Given the description of an element on the screen output the (x, y) to click on. 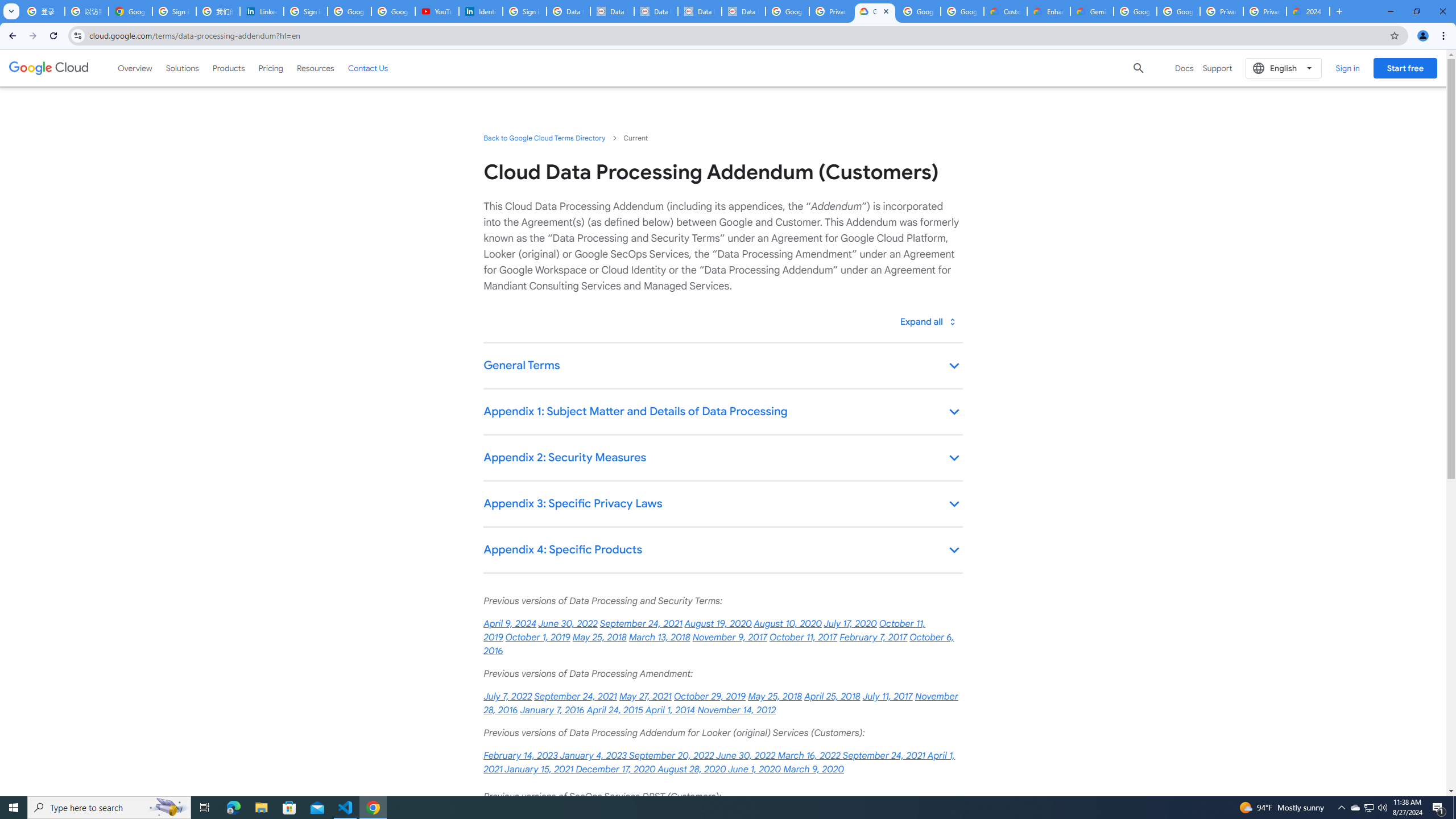
September 24, 2021 (575, 696)
Google Workspace - Specific Terms (918, 11)
October 6, 2016 (718, 644)
Cloud Data Processing Addendum | Google Cloud (874, 11)
April 1, 2014 (670, 709)
